Given the description of an element on the screen output the (x, y) to click on. 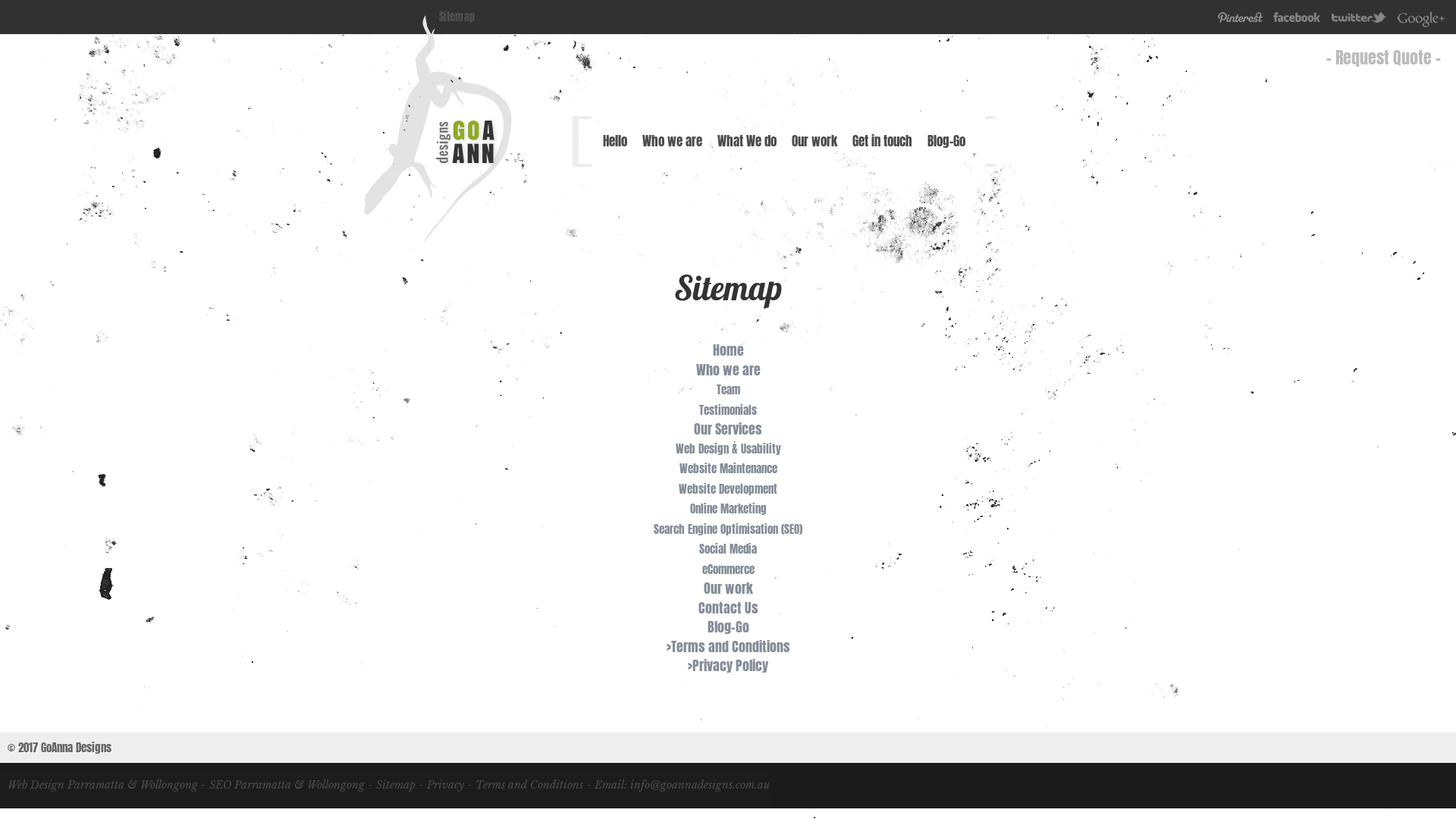
info@goannadesigns.com.au Element type: text (699, 784)
Twitter Element type: text (1358, 21)
Team Element type: text (727, 389)
Facebook Element type: text (1296, 21)
Contact Us Element type: text (727, 607)
- Request Quote - Element type: text (1383, 56)
Terms and Conditions Element type: text (529, 784)
Get in touch Element type: text (881, 141)
Home Element type: text (727, 349)
Blog-Go Element type: text (945, 141)
Who we are Element type: text (728, 369)
Website Maintenance Element type: text (728, 467)
eCommerce Element type: text (728, 568)
Privacy Element type: text (445, 784)
Website Development Element type: text (727, 488)
Hello Element type: text (614, 141)
Web Design & Usability Element type: text (727, 448)
Parramatta Web Design & SEO Wollongong Element type: hover (467, 165)
Sitemap Element type: text (395, 784)
>Terms and Conditions Element type: text (727, 646)
Testimonials Element type: text (727, 409)
Search Engine Optimisation (SEO) Element type: text (727, 528)
Who we are Element type: text (671, 141)
What We do Element type: text (746, 141)
Our work Element type: text (728, 587)
Our Services Element type: text (727, 428)
SEO Parramatta & Wollongong Element type: text (286, 784)
Social Media Element type: text (727, 548)
Online Marketing Element type: text (728, 508)
Gplus Element type: text (1420, 20)
Web Design Parramatta & Wollongong Element type: text (102, 784)
Pinterest Element type: text (1239, 21)
Our work Element type: text (814, 141)
Blog-Go Element type: text (727, 626)
>Privacy Policy Element type: text (727, 665)
